Given the description of an element on the screen output the (x, y) to click on. 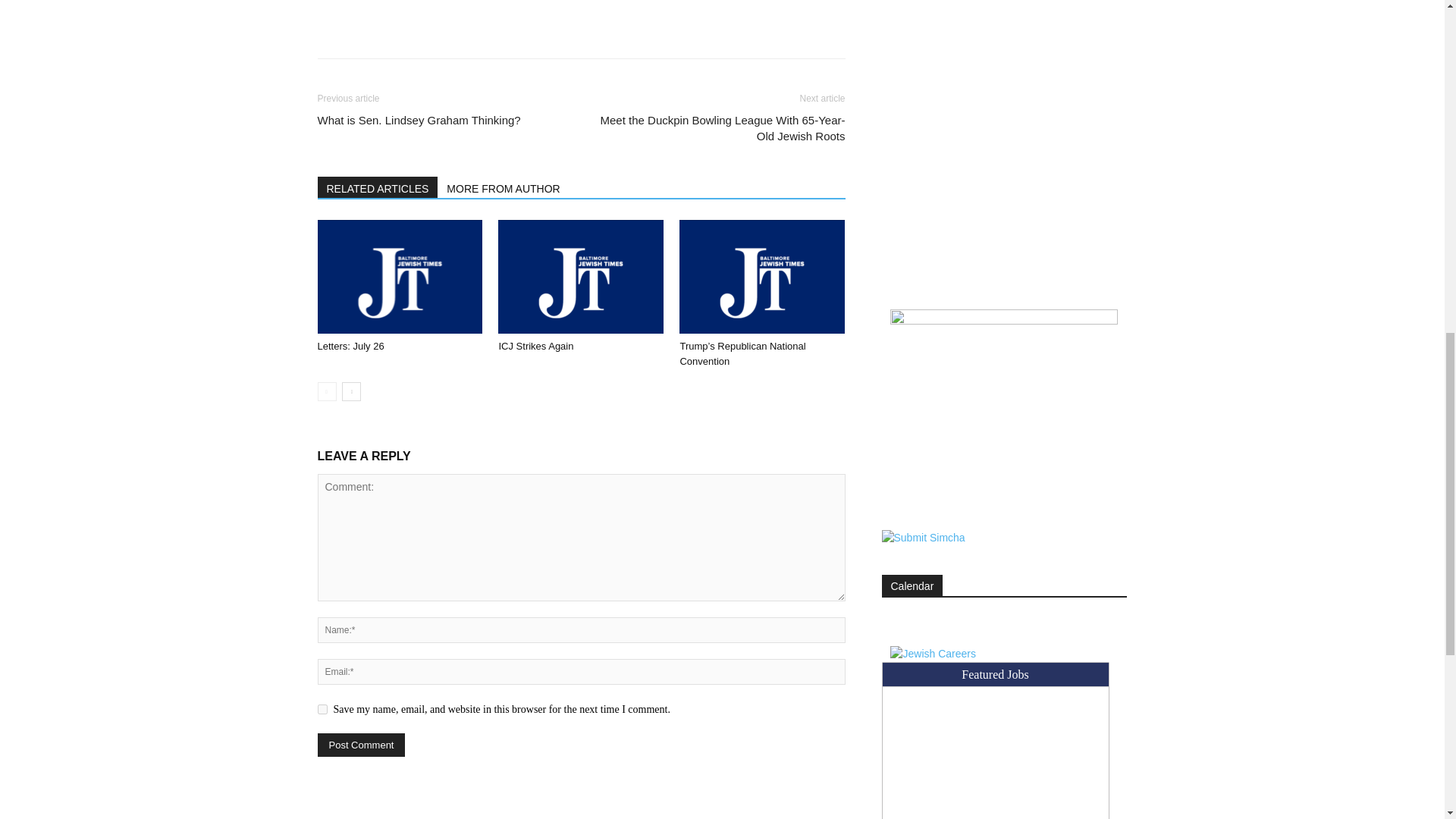
Post Comment (360, 744)
yes (321, 709)
